Given the description of an element on the screen output the (x, y) to click on. 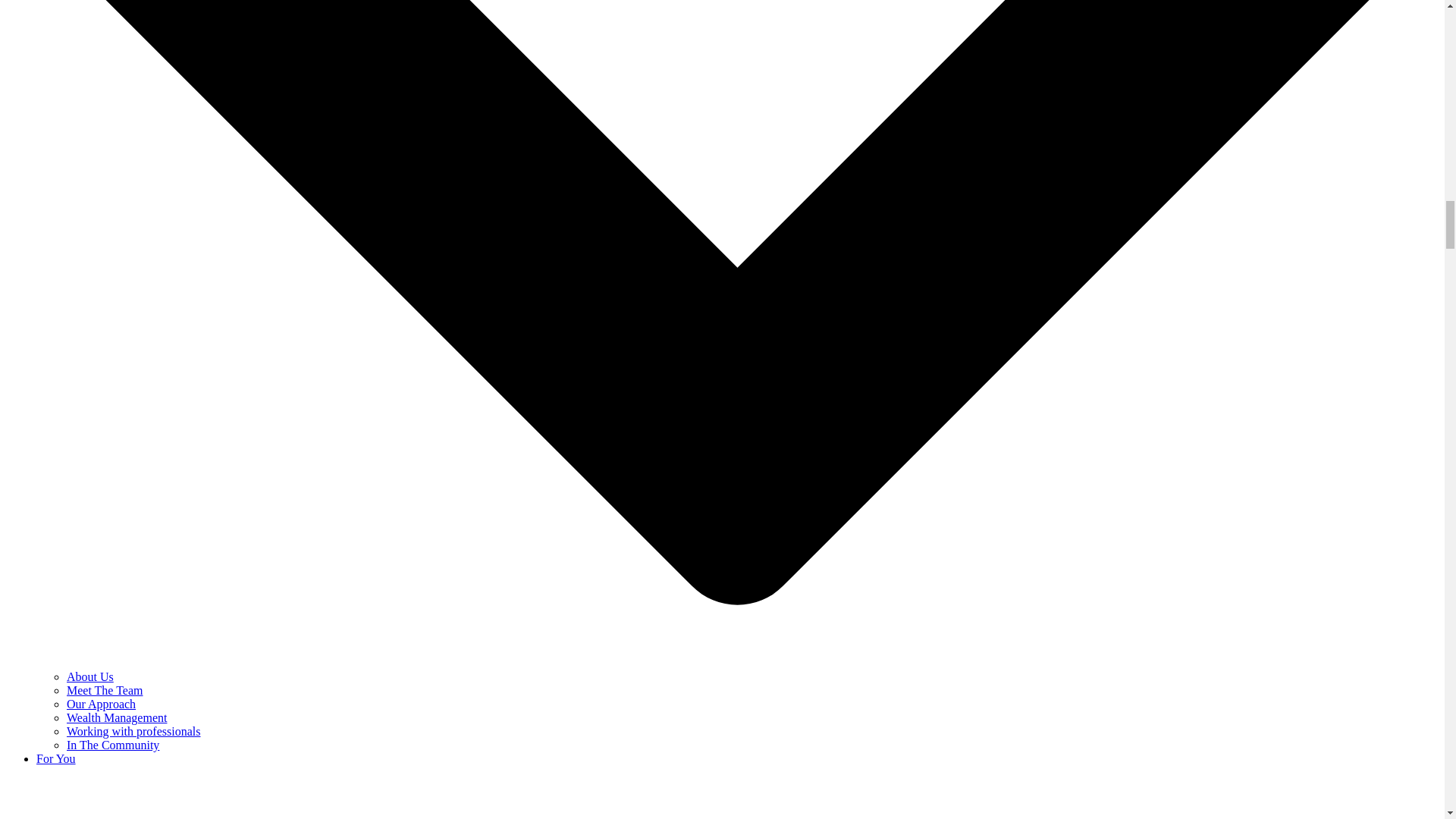
In The Community (112, 744)
Meet The Team (104, 689)
Wealth Management (116, 717)
Our Approach (100, 703)
Working with professionals (133, 730)
About Us (89, 676)
